Given the description of an element on the screen output the (x, y) to click on. 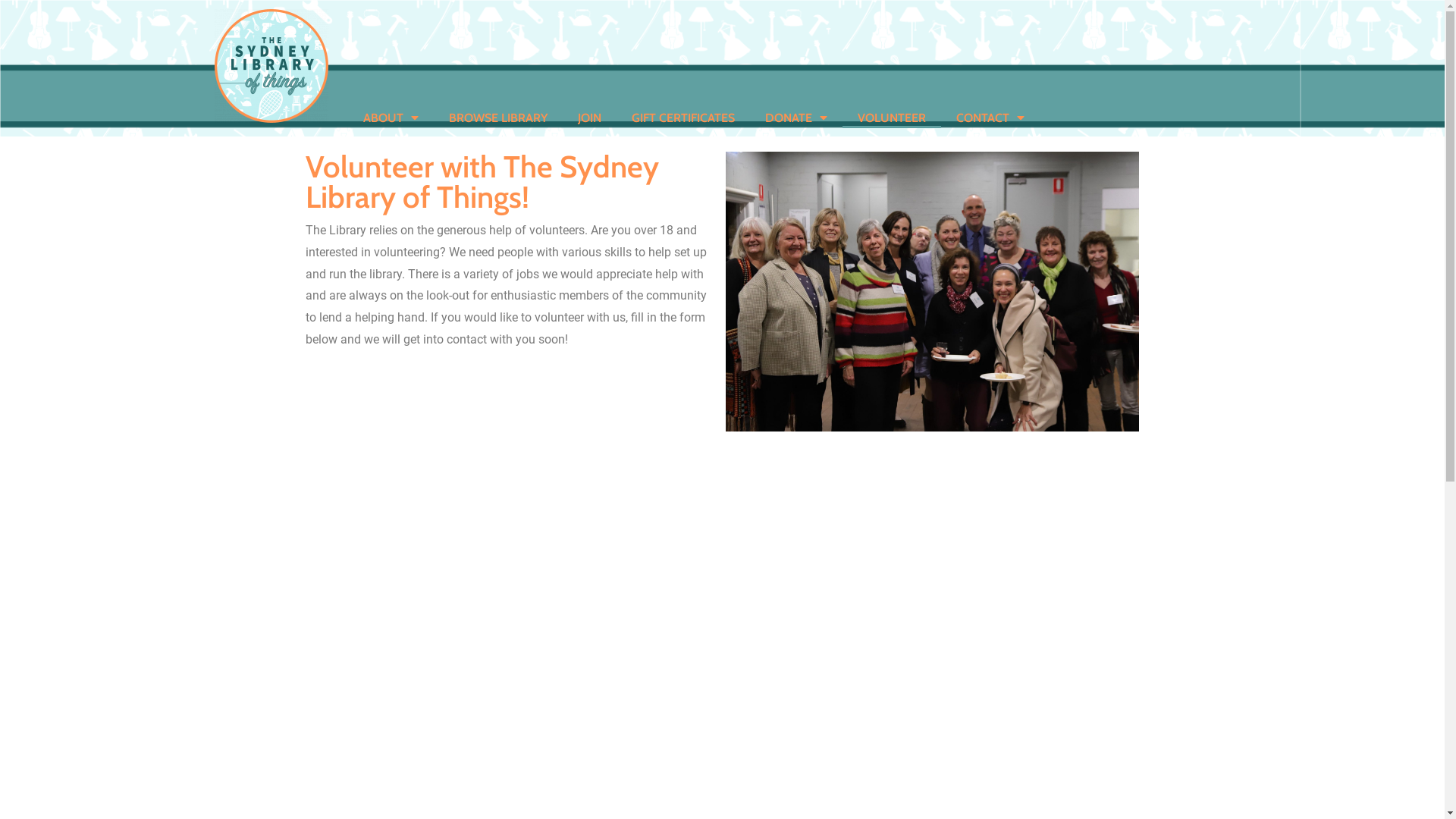
CONTACT Element type: text (989, 117)
VOLUNTEER Element type: text (890, 117)
BROWSE LIBRARY Element type: text (497, 117)
DONATE Element type: text (795, 117)
JOIN Element type: text (589, 117)
ABOUT Element type: text (390, 117)
GIFT CERTIFICATES Element type: text (682, 117)
